Given the description of an element on the screen output the (x, y) to click on. 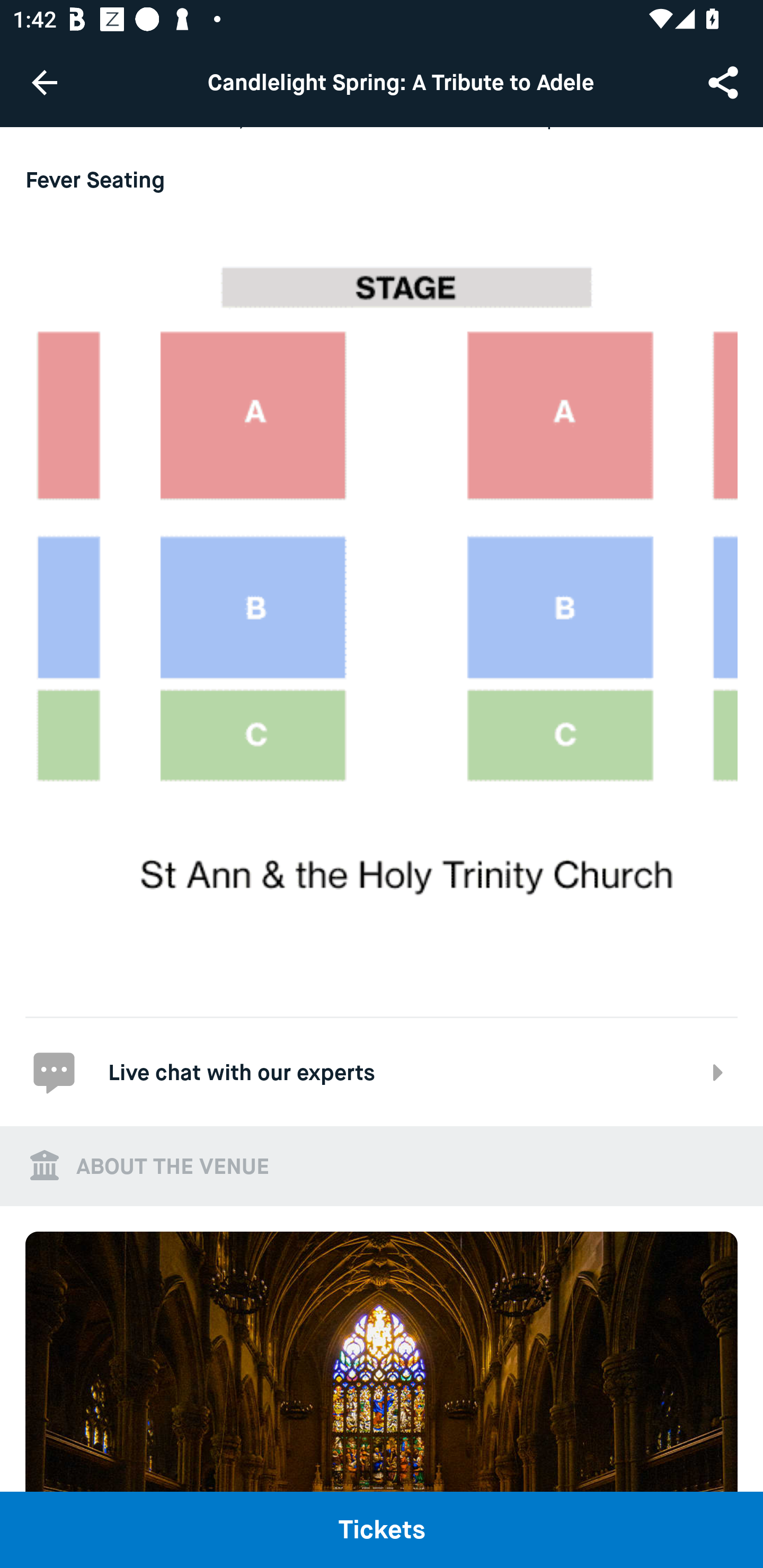
Navigate up (44, 82)
Share (724, 81)
Live chat with our experts (381, 1070)
Tickets (381, 1529)
